Given the description of an element on the screen output the (x, y) to click on. 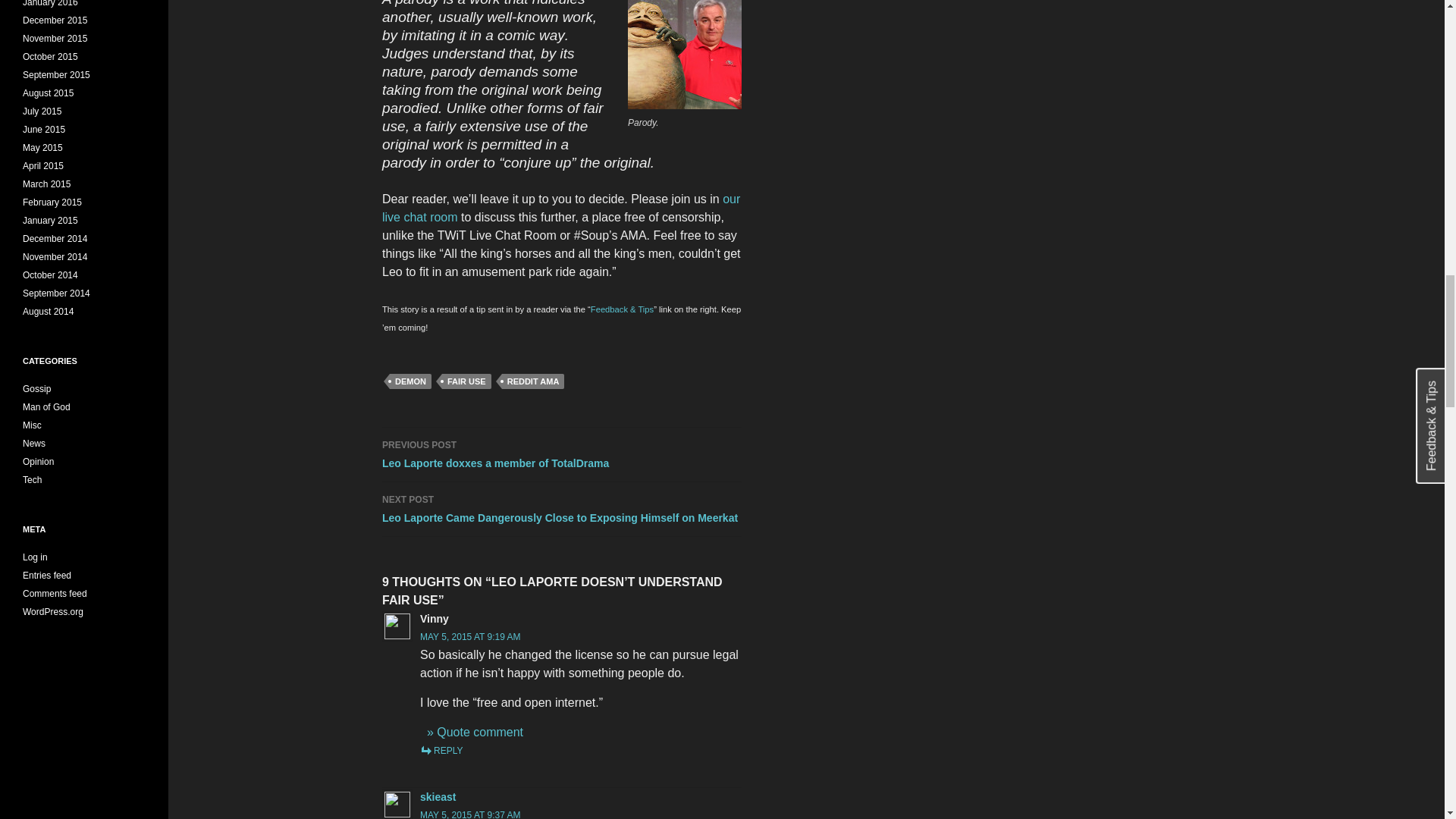
FAIR USE (467, 381)
MAY 5, 2015 AT 9:19 AM (470, 636)
DEMON (410, 381)
our live chat room (560, 207)
REDDIT AMA (533, 381)
Click here or select text to quote comment (474, 731)
